Given the description of an element on the screen output the (x, y) to click on. 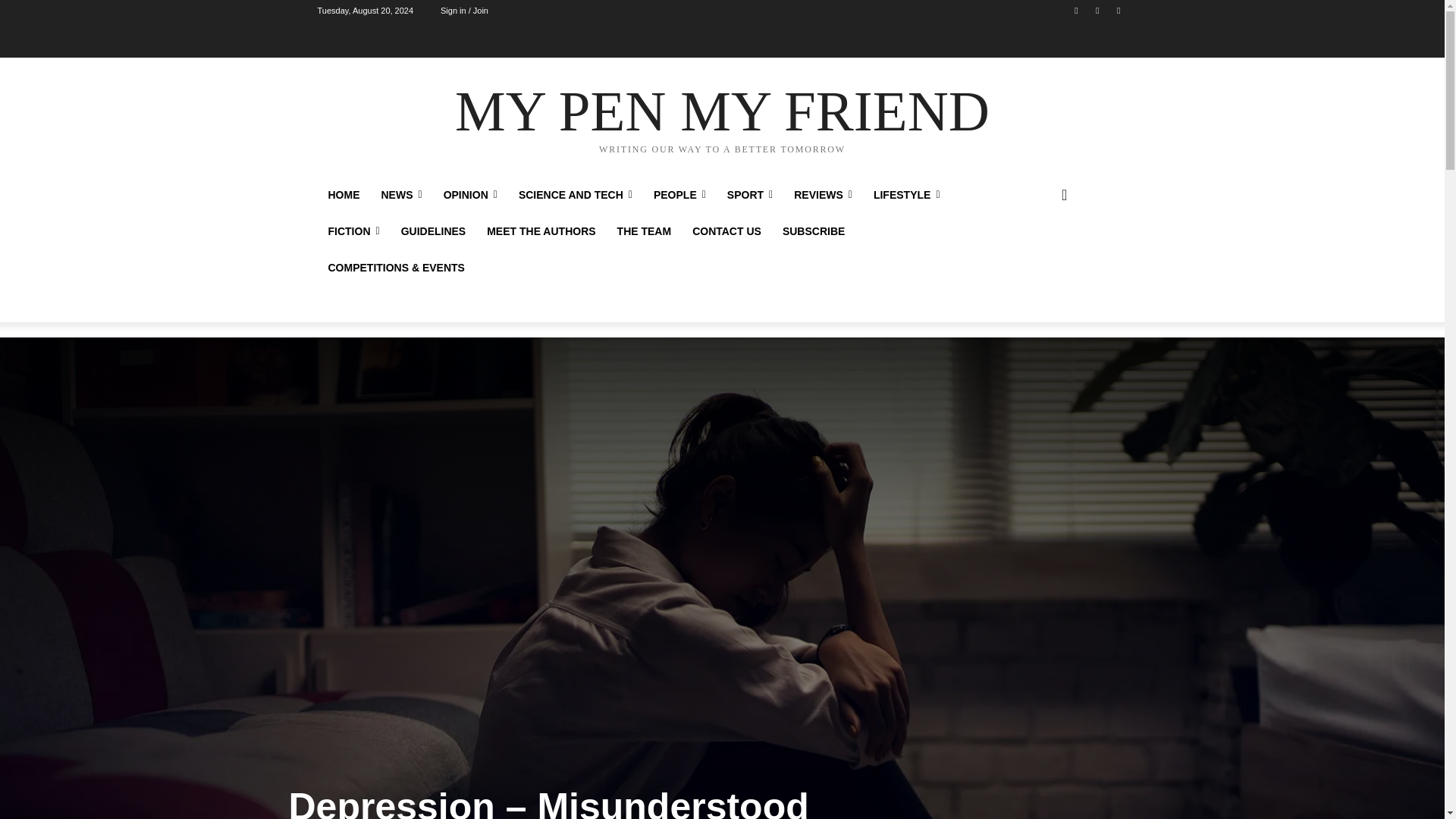
Facebook (1075, 9)
Instagram (1097, 9)
MY PEN MY FRIEND (721, 116)
Youtube (1117, 9)
